Given the description of an element on the screen output the (x, y) to click on. 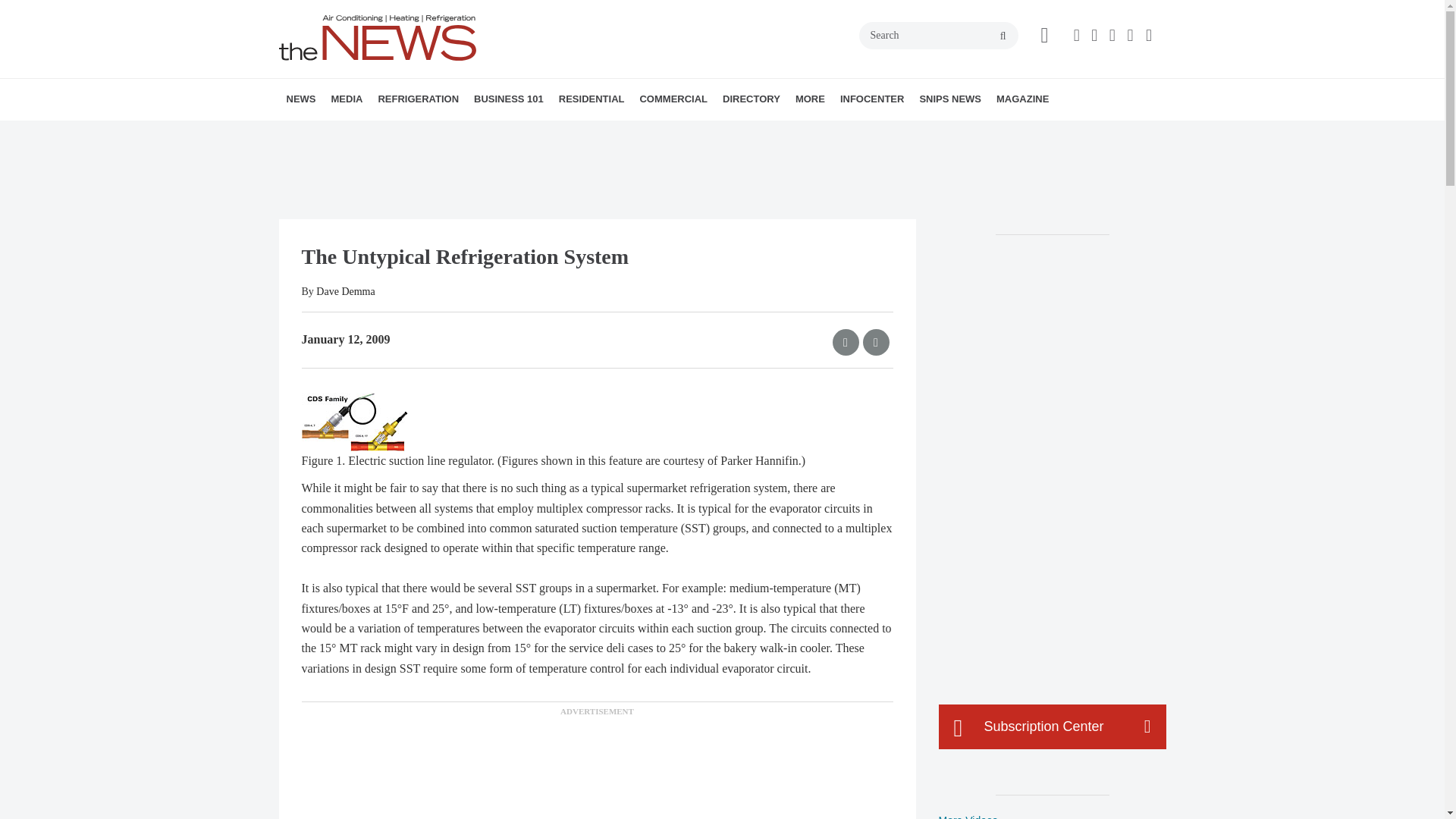
NEW HVAC PRODUCTS (380, 132)
Search (938, 35)
FROSTLINES (478, 132)
REFRIGERANT REGULATIONS (472, 132)
EBOOKS (442, 132)
DUCTWORD PUZZLE (449, 132)
NEWS (301, 98)
search (1002, 36)
BREAKING NEWS (373, 132)
PODCASTS (430, 132)
